Given the description of an element on the screen output the (x, y) to click on. 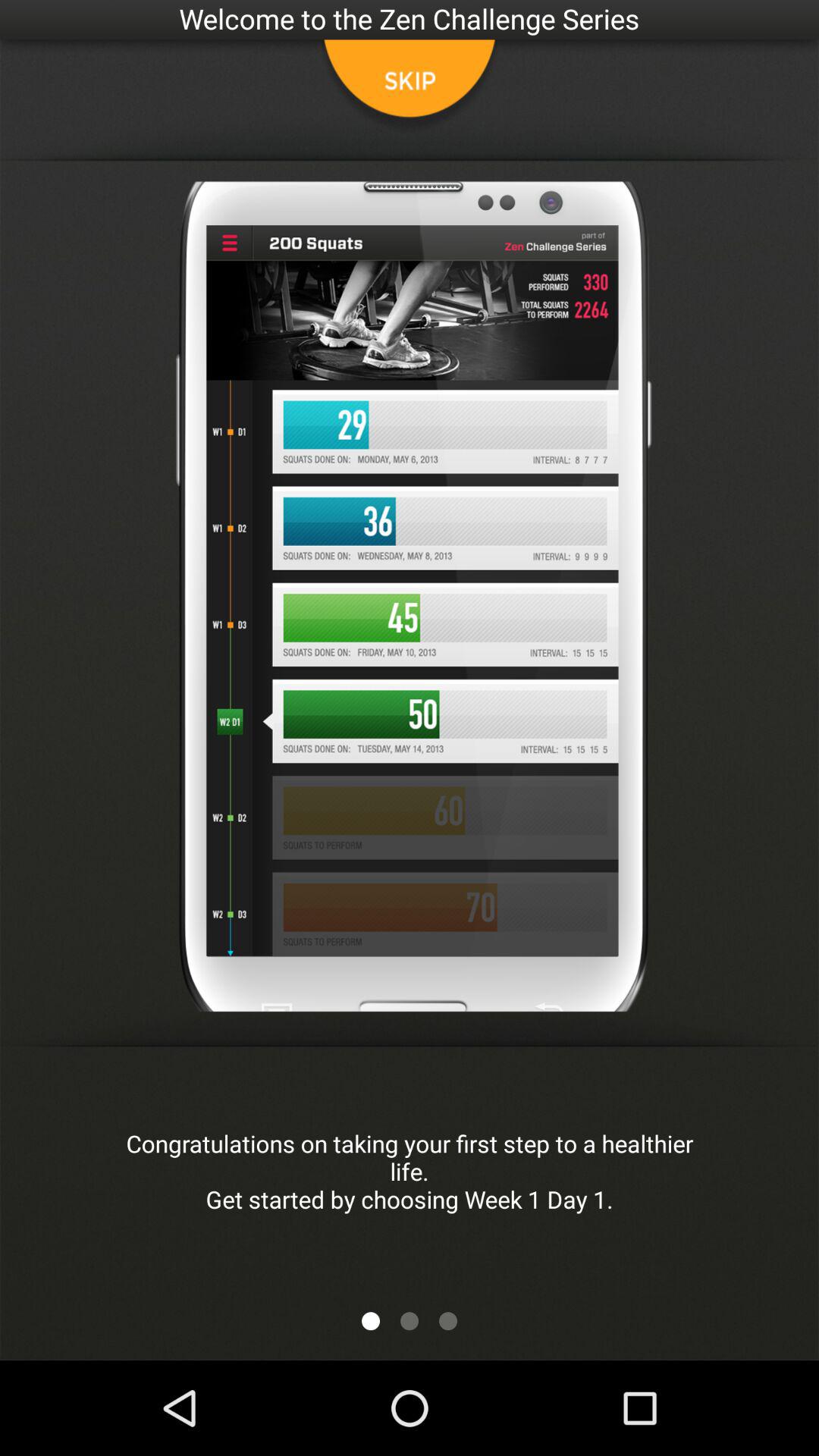
go to 3rd page of slideshow (448, 1321)
